Given the description of an element on the screen output the (x, y) to click on. 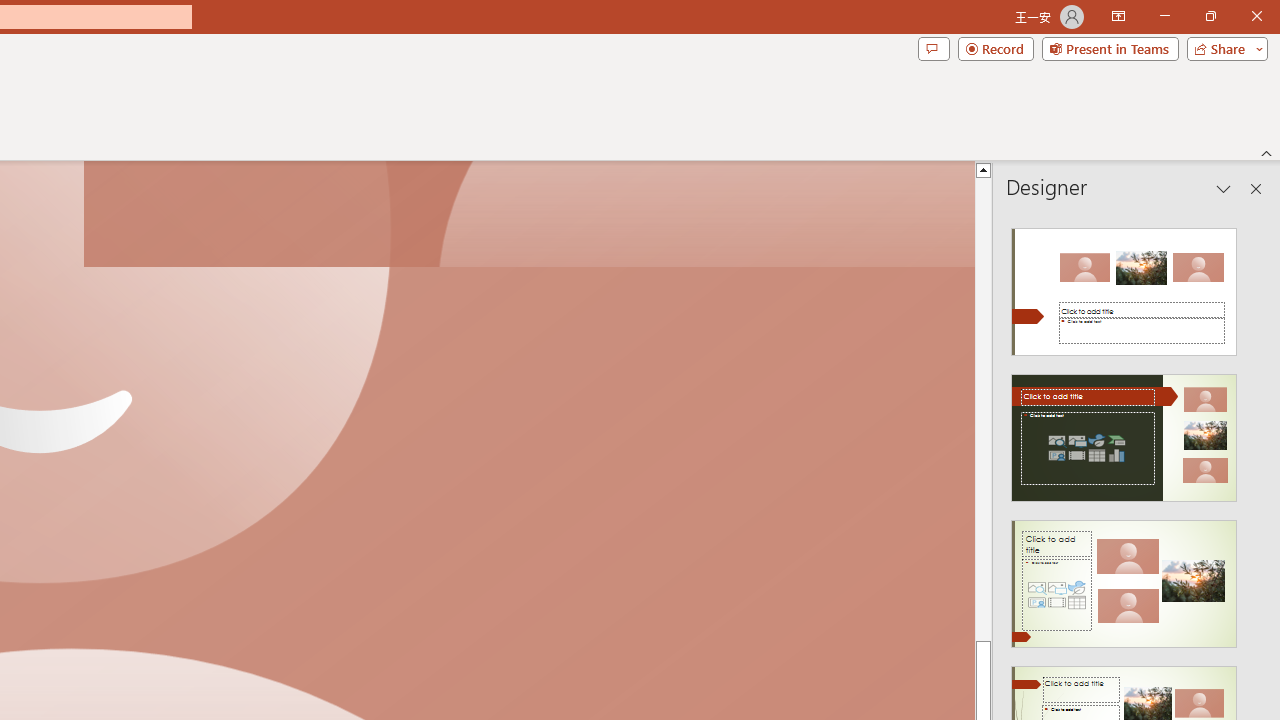
Recommended Design: Design Idea (1124, 286)
Design Idea (1124, 577)
Camera 7, No camera detected. (529, 215)
